Given the description of an element on the screen output the (x, y) to click on. 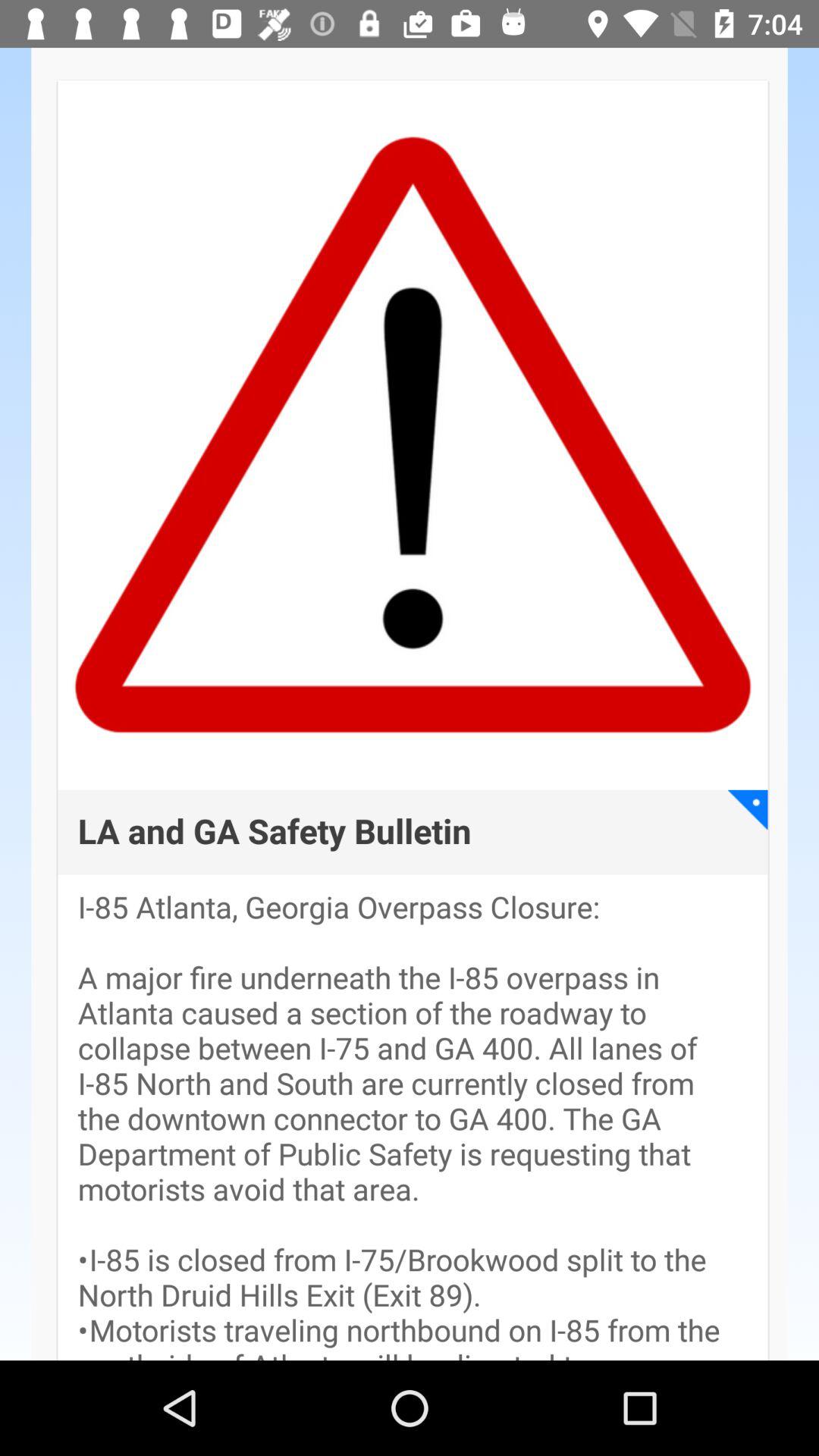
turn on item below la and ga item (412, 1125)
